Given the description of an element on the screen output the (x, y) to click on. 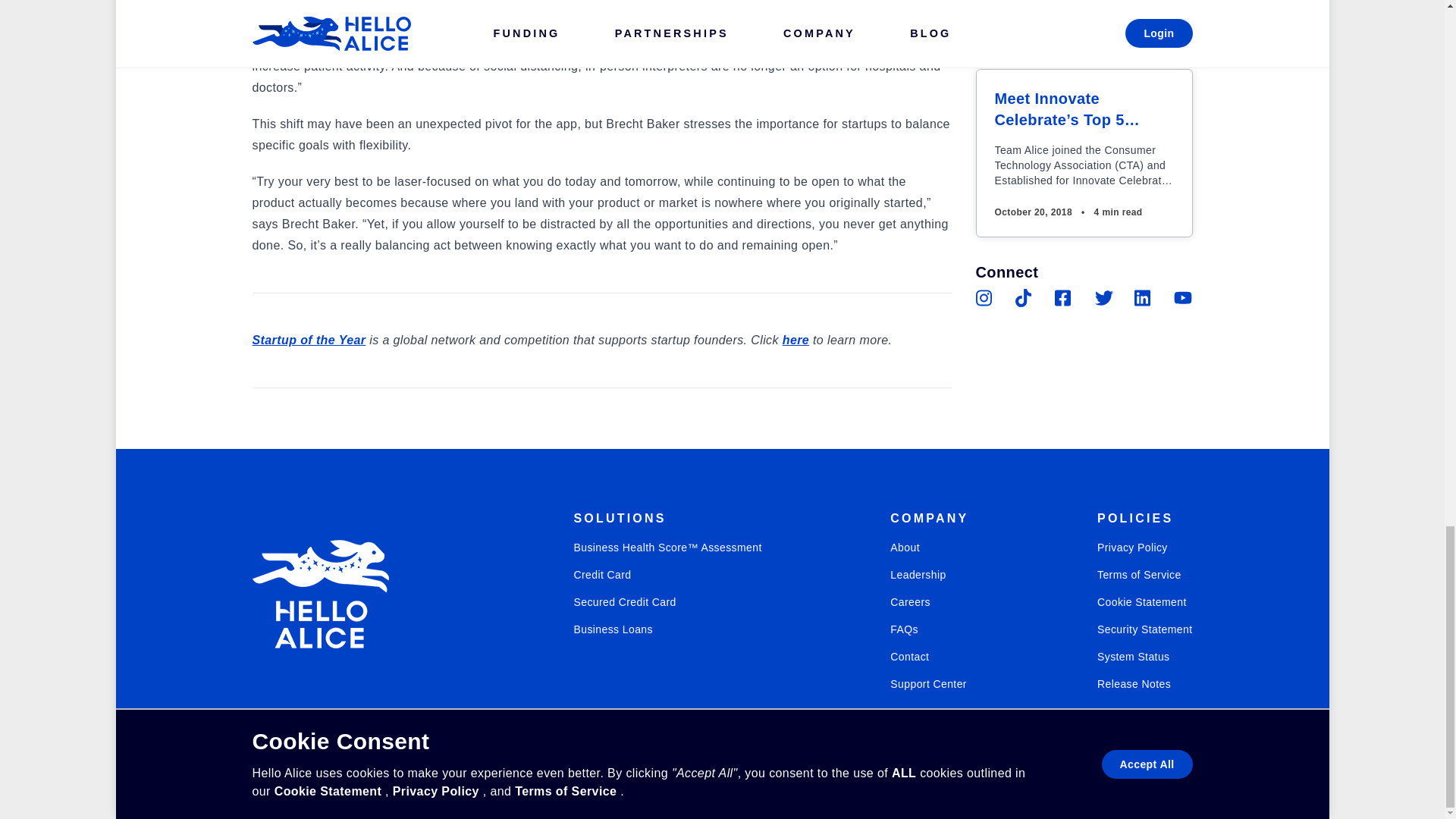
Like and Subscribe to the Hello Alice YouTube channel (1182, 298)
Follow Hello Alice on Instagram (983, 298)
here (796, 339)
Follow Hello Alice on TikTok (1023, 298)
Follow Hello Alice on Instagram (263, 745)
Follow Hello Alice on TikTok (317, 745)
Return to Hello Alice homepage (319, 593)
Follow Hello Alice on Facebook (1063, 298)
Follow Hello Alice on Twitter (1103, 298)
Follow Hello Alice on LinkedIn (1143, 298)
Startup of the Year (308, 339)
